Given the description of an element on the screen output the (x, y) to click on. 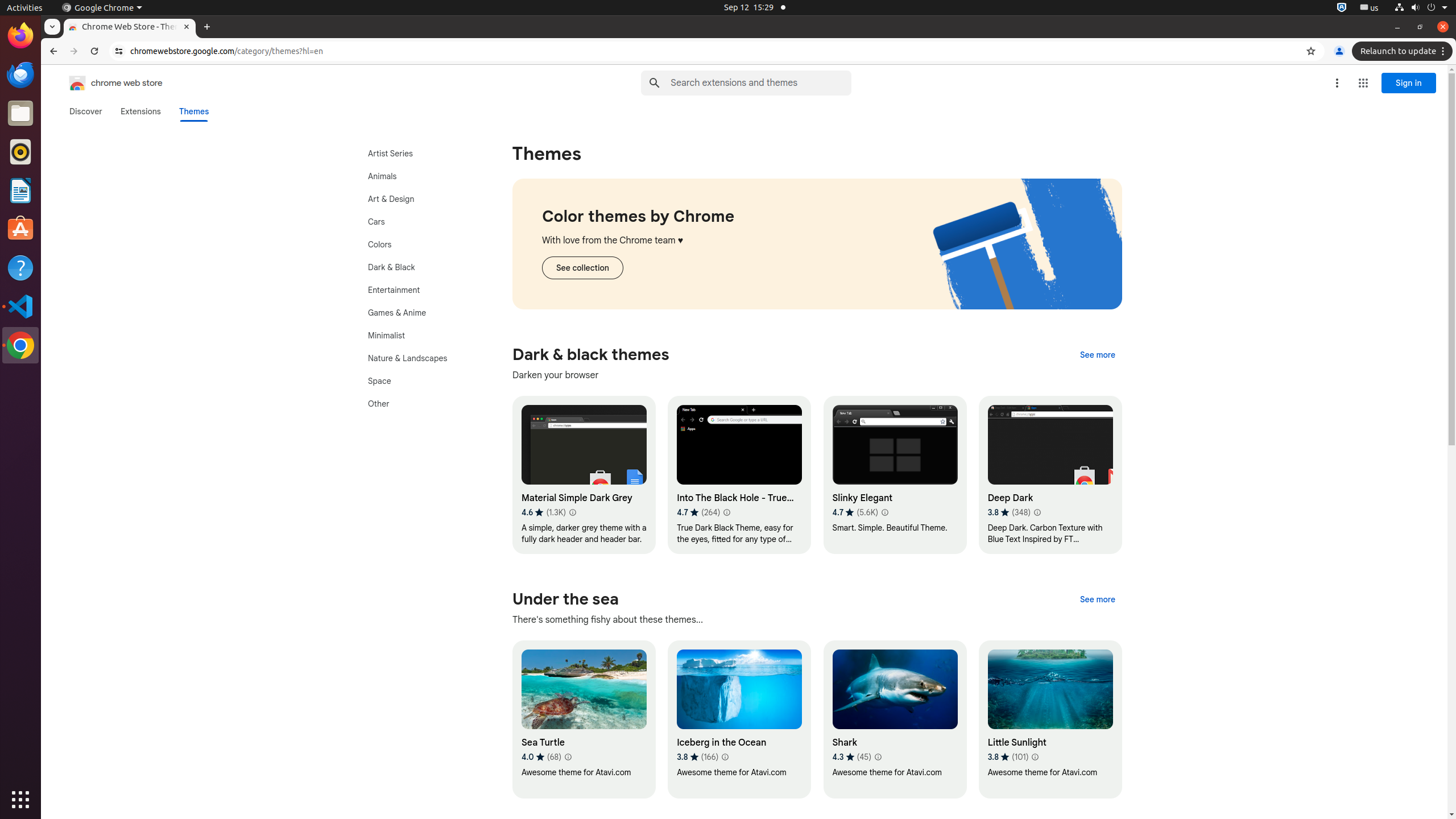
Cars Element type: menu-item (419, 221)
Shark Element type: link (894, 719)
Learn more about results and reviews "Iceberg in the Ocean" Element type: push-button (724, 756)
Material Simple Dark Grey Element type: link (583, 474)
Learn more about results and reviews "Sea Turtle" Element type: push-button (567, 756)
